Given the description of an element on the screen output the (x, y) to click on. 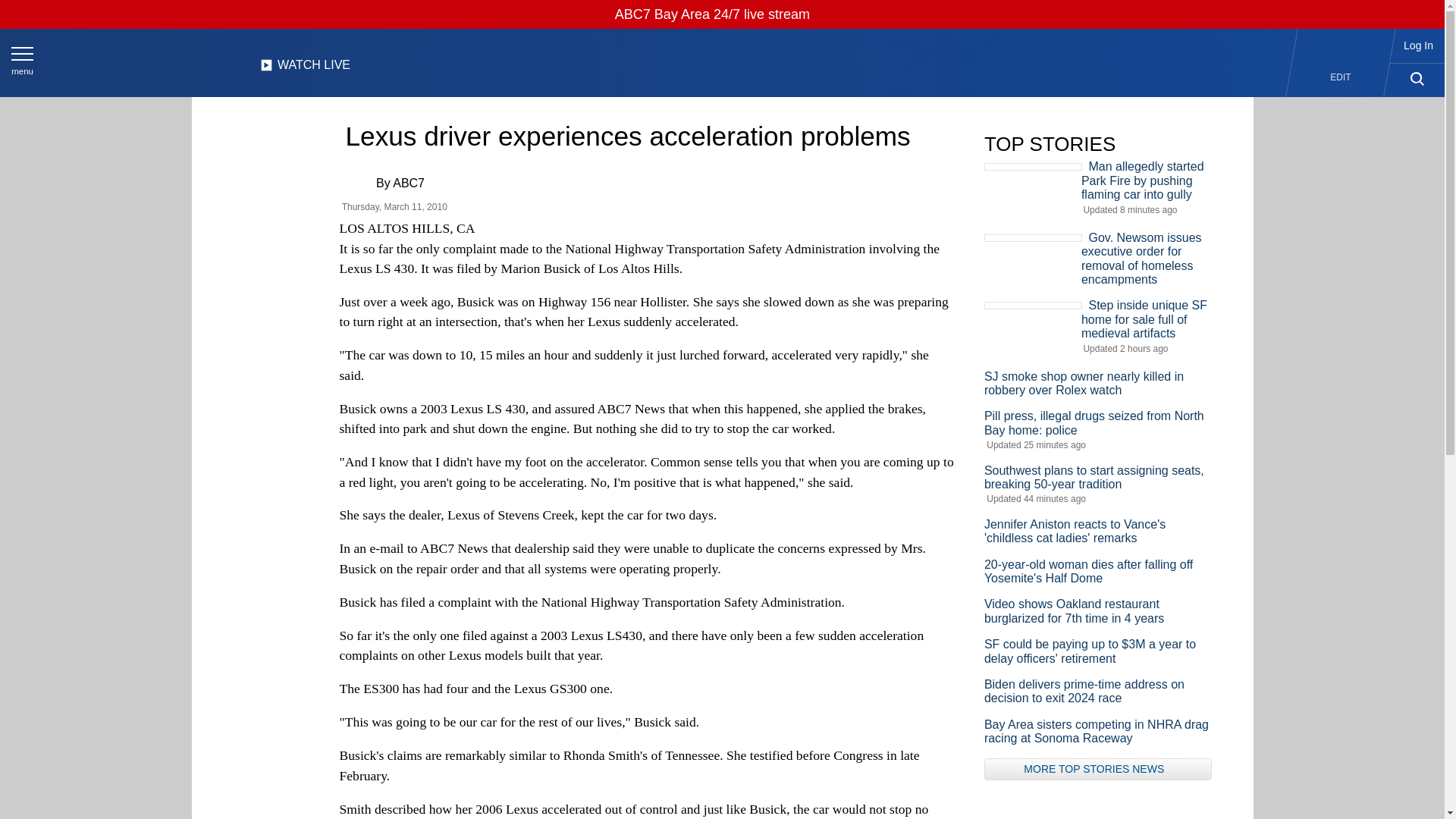
WATCH LIVE (305, 69)
EDIT (1340, 77)
